Given the description of an element on the screen output the (x, y) to click on. 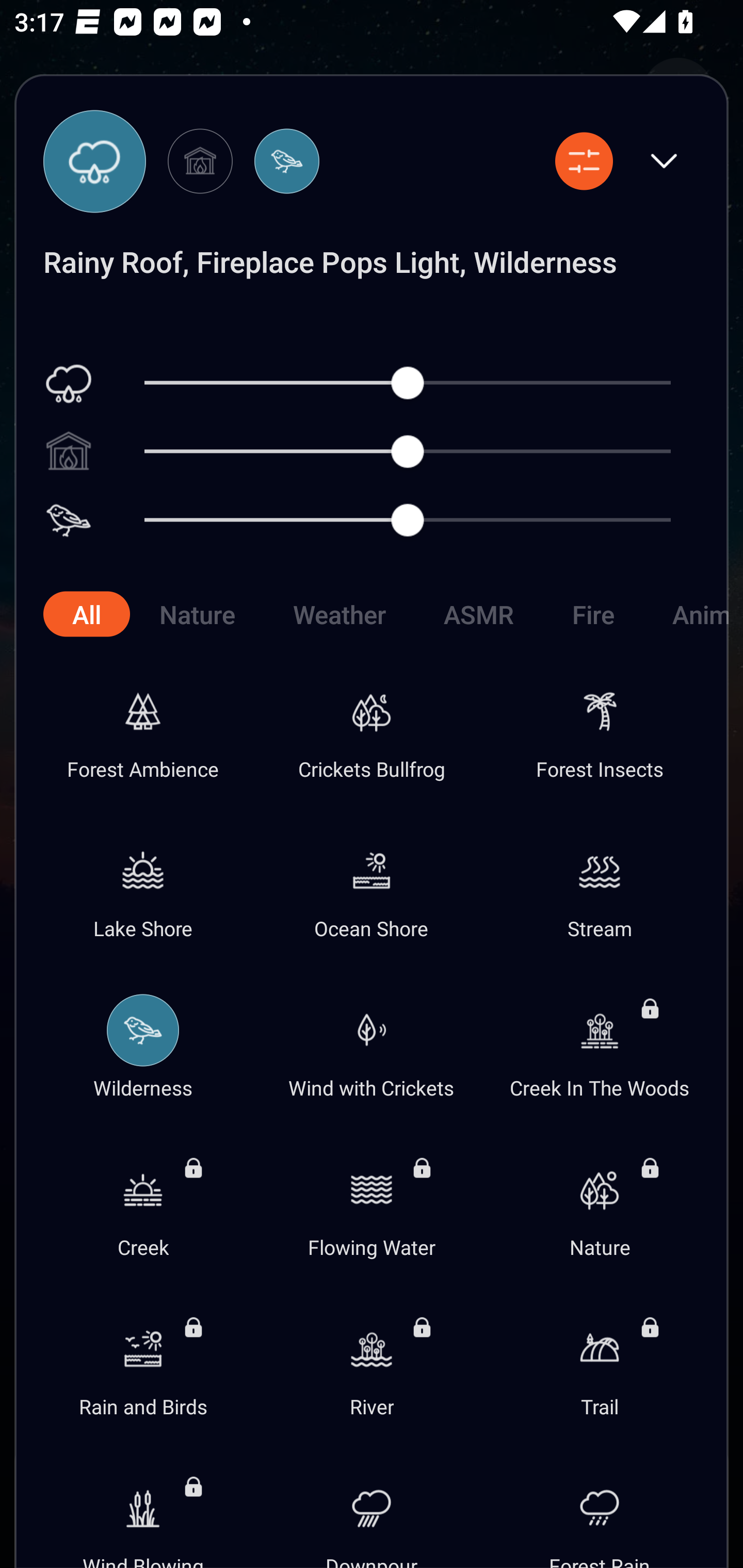
All (86, 613)
Nature (196, 613)
Weather (338, 613)
ASMR (478, 613)
Fire (592, 613)
Animal (685, 613)
Forest Ambience (142, 725)
Crickets Bullfrog (371, 725)
Forest Insects (599, 725)
Lake Shore (142, 885)
Ocean Shore (371, 885)
Stream (599, 885)
Wilderness (142, 1044)
Wind with Crickets (371, 1044)
Creek In The Woods (599, 1044)
Creek (142, 1204)
Flowing Water (371, 1204)
Nature (599, 1204)
Rain and Birds (142, 1364)
River (371, 1364)
Trail (599, 1364)
Wind Blowing Through Trees (142, 1506)
Downpour (371, 1506)
Forest Rain (599, 1506)
